Given the description of an element on the screen output the (x, y) to click on. 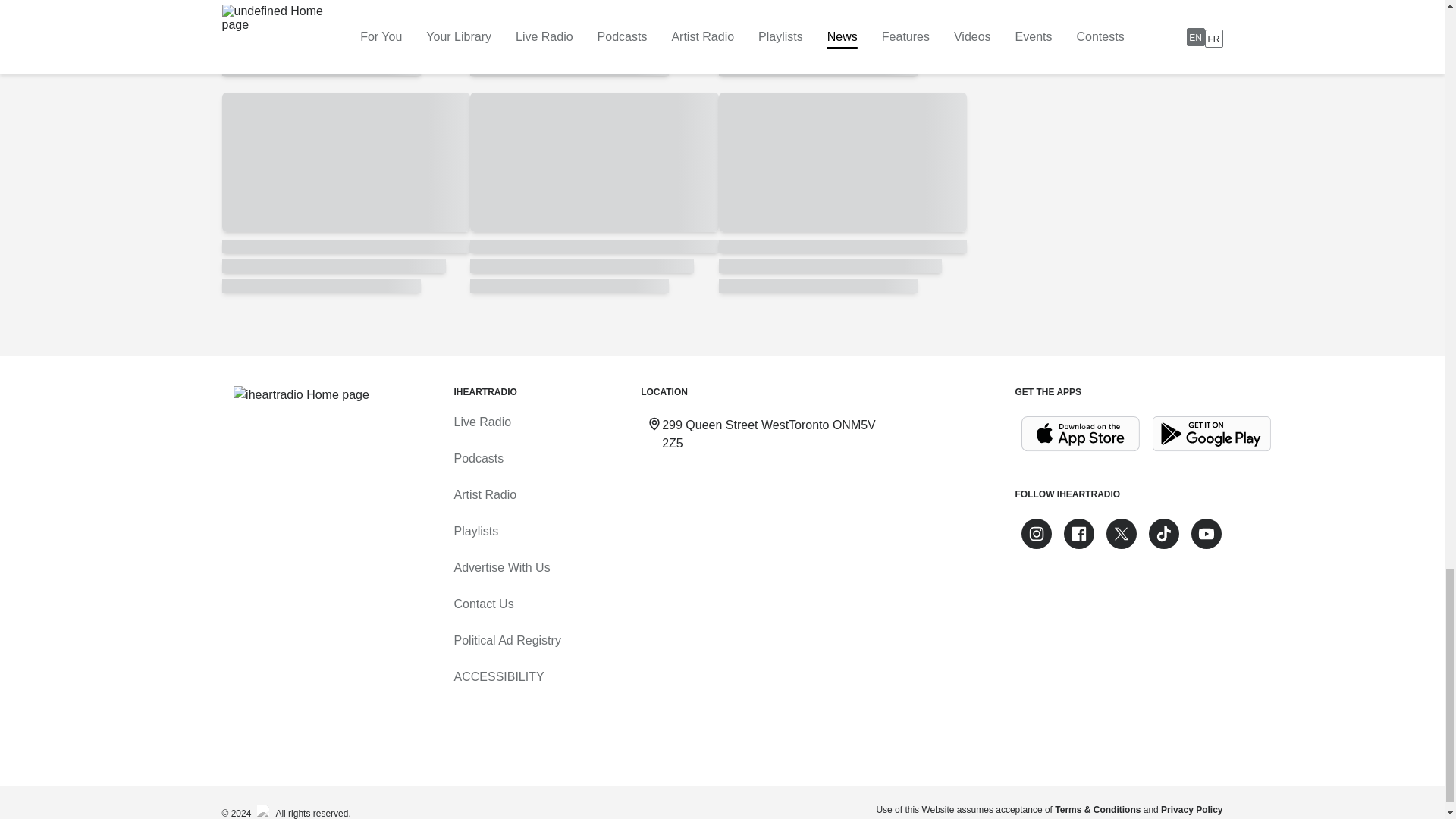
Accessibility (497, 676)
Privacy Policy (1191, 809)
Get it on Google Play (1212, 434)
Download on the App Store (1080, 434)
